Given the description of an element on the screen output the (x, y) to click on. 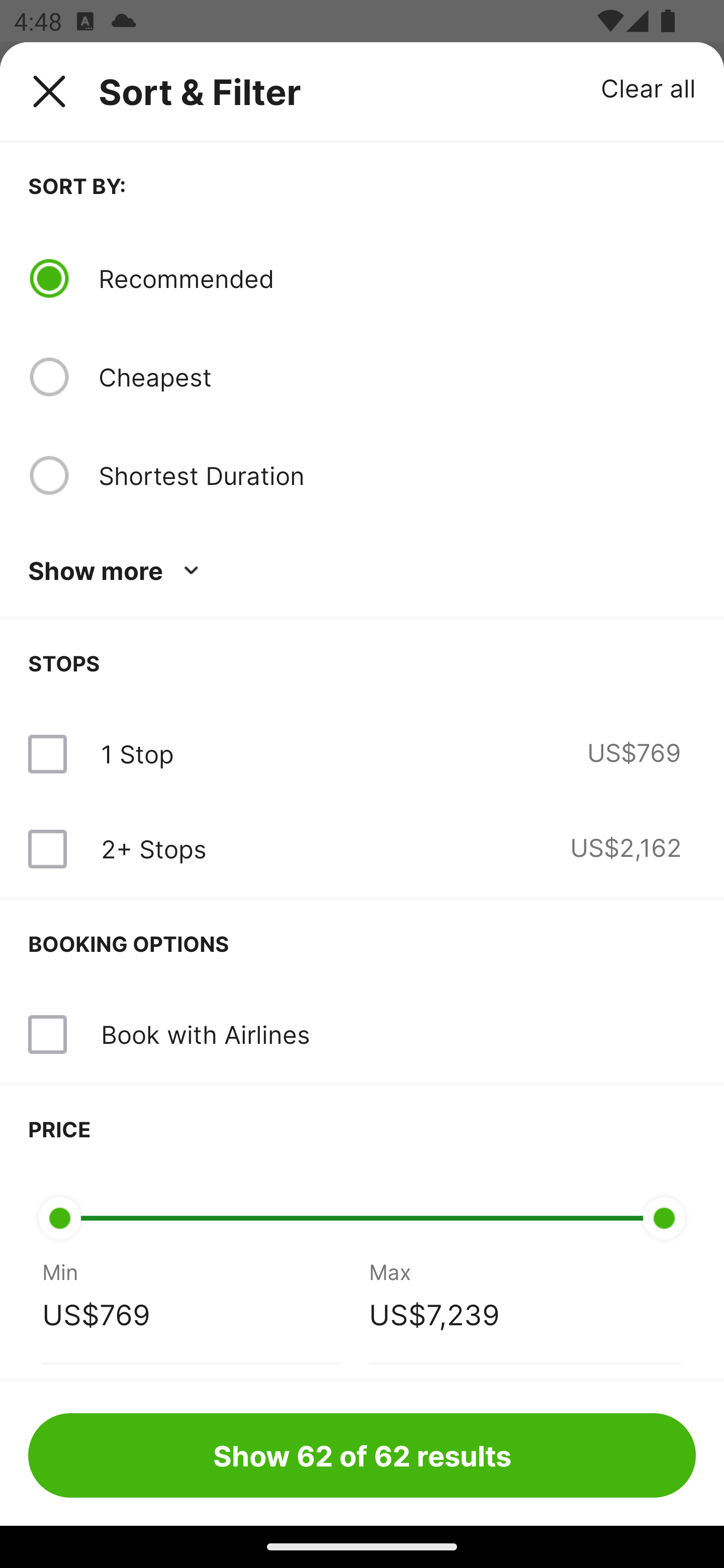
Clear all (648, 87)
Recommended  (362, 277)
Recommended  (396, 278)
Cheapest (362, 376)
Cheapest (396, 377)
Shortest Duration (362, 475)
Shortest Duration (396, 474)
Show more (116, 570)
1 Stop US$769 (362, 754)
1 Stop (136, 753)
2+ Stops US$2,162 (362, 848)
2+ Stops (153, 849)
Book with Airlines (362, 1033)
Book with Airlines (204, 1034)
Show 62 of 62 results (361, 1454)
